Given the description of an element on the screen output the (x, y) to click on. 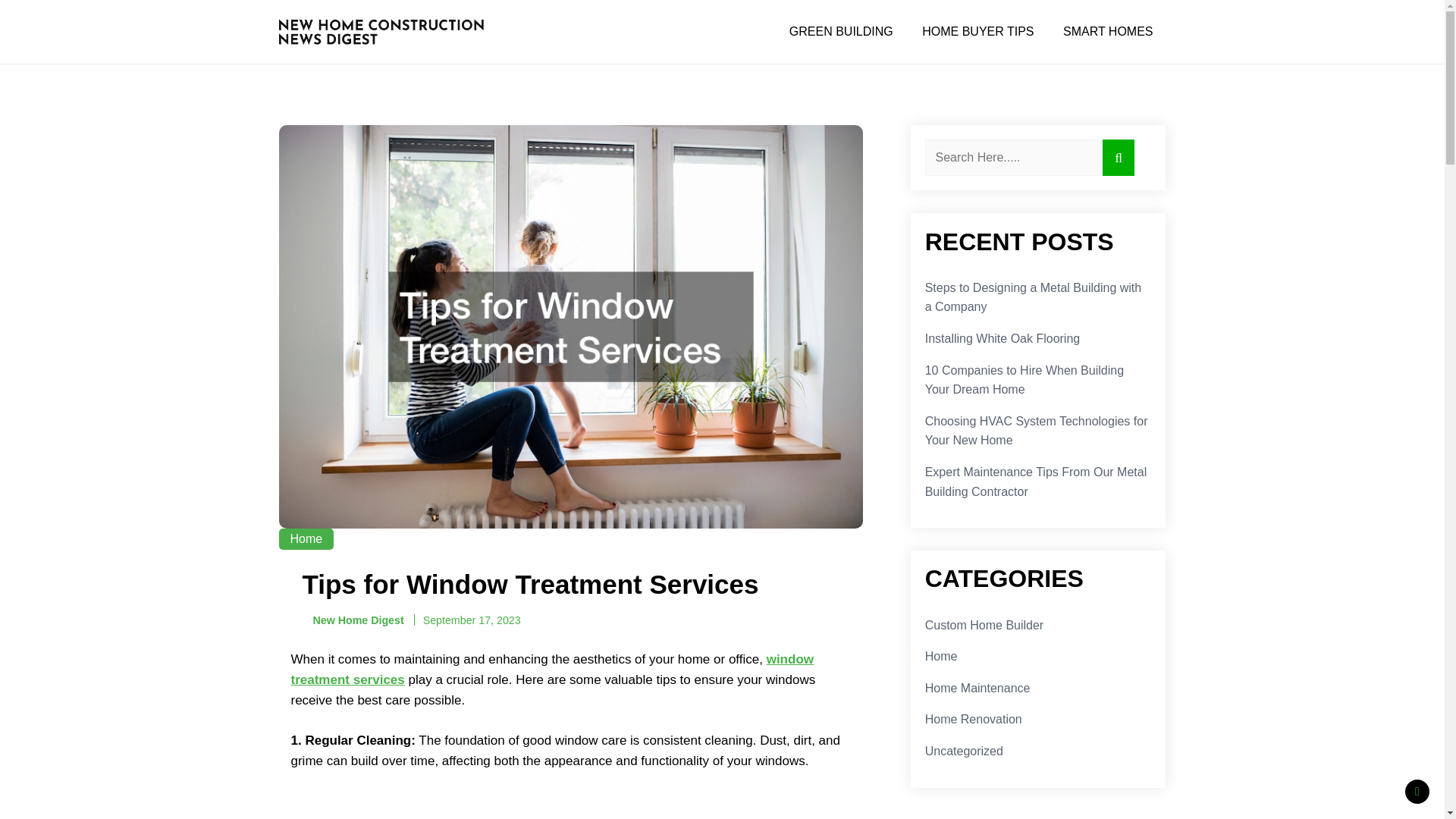
GREEN BUILDING (840, 31)
Steps to Designing a Metal Building with a Company (1032, 297)
Expert Maintenance Tips From Our Metal Building Contractor (1035, 481)
Home Renovation (973, 718)
Home Maintenance (977, 687)
Uncategorized (963, 750)
Choosing HVAC System Technologies for Your New Home (1036, 430)
Custom Home Builder (983, 625)
New Home Digest (352, 620)
window treatment services (552, 669)
NEW HOME CONSTRUCTION NEWS DIGEST (387, 90)
September 17, 2023 (472, 620)
Home (941, 656)
HOME BUYER TIPS (977, 31)
SMART HOMES (1107, 31)
